Given the description of an element on the screen output the (x, y) to click on. 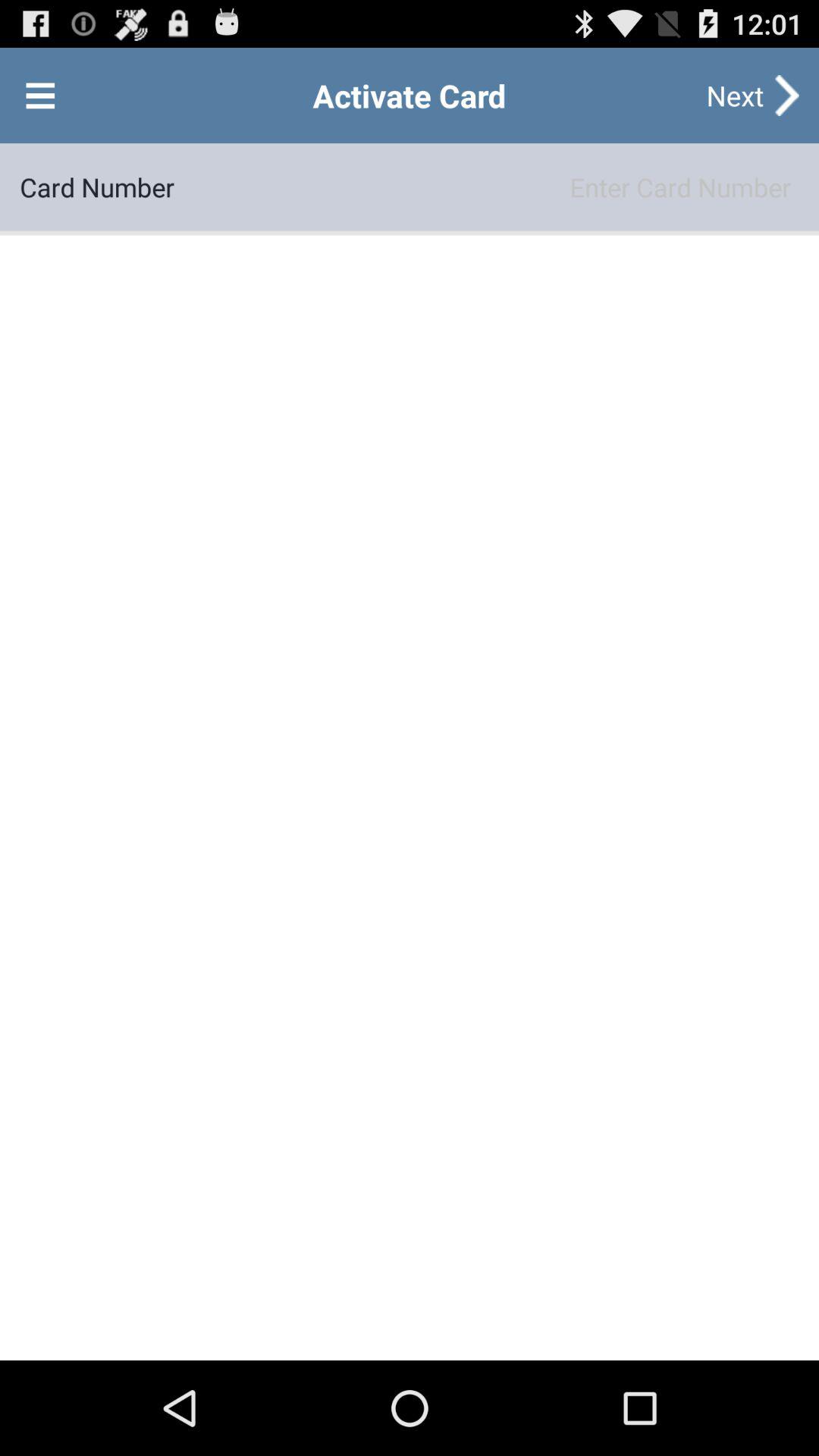
launch the item next to card number (486, 186)
